Given the description of an element on the screen output the (x, y) to click on. 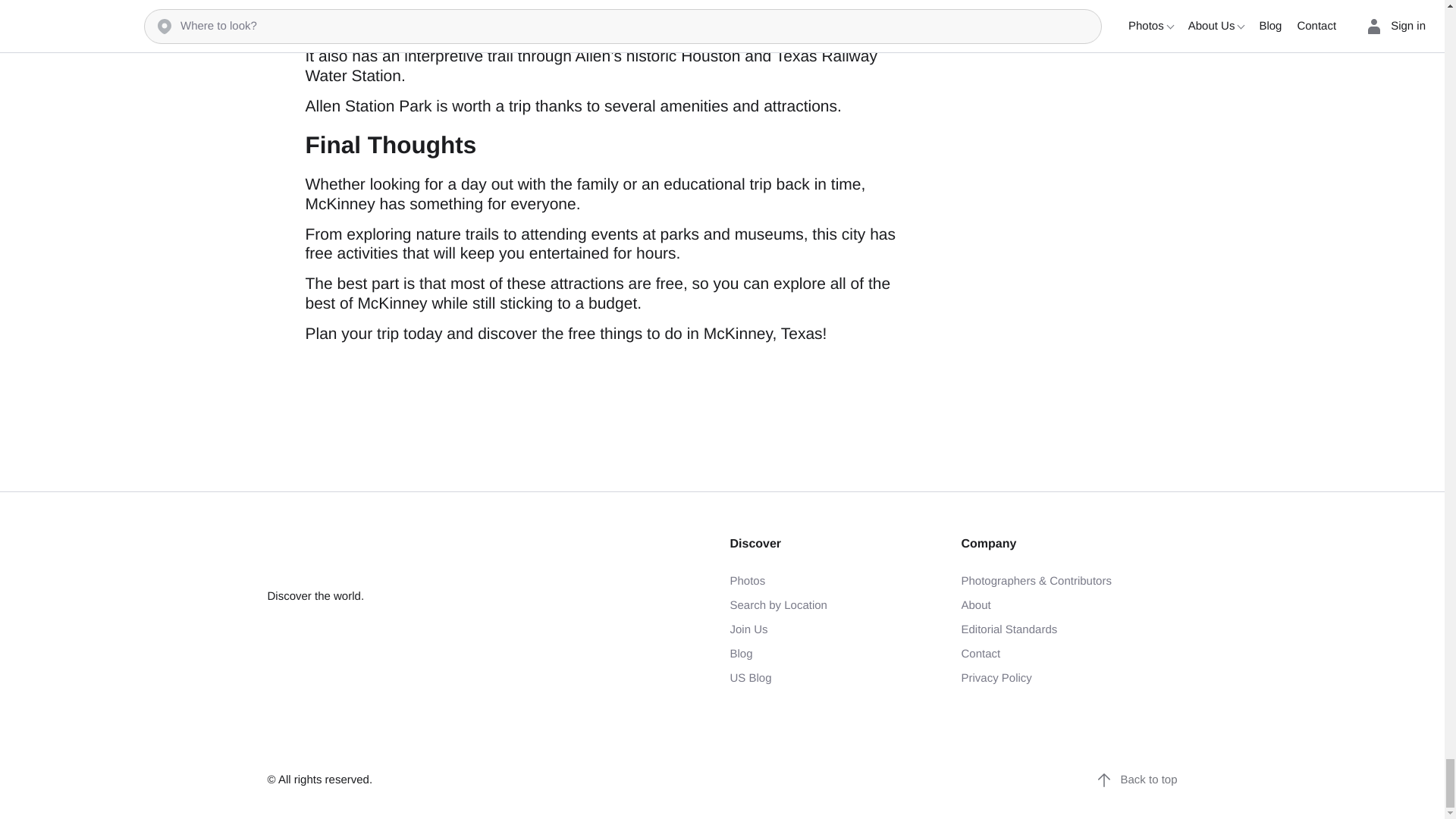
cropped-travellenslogo-2-black-3-3.png (361, 557)
